Given the description of an element on the screen output the (x, y) to click on. 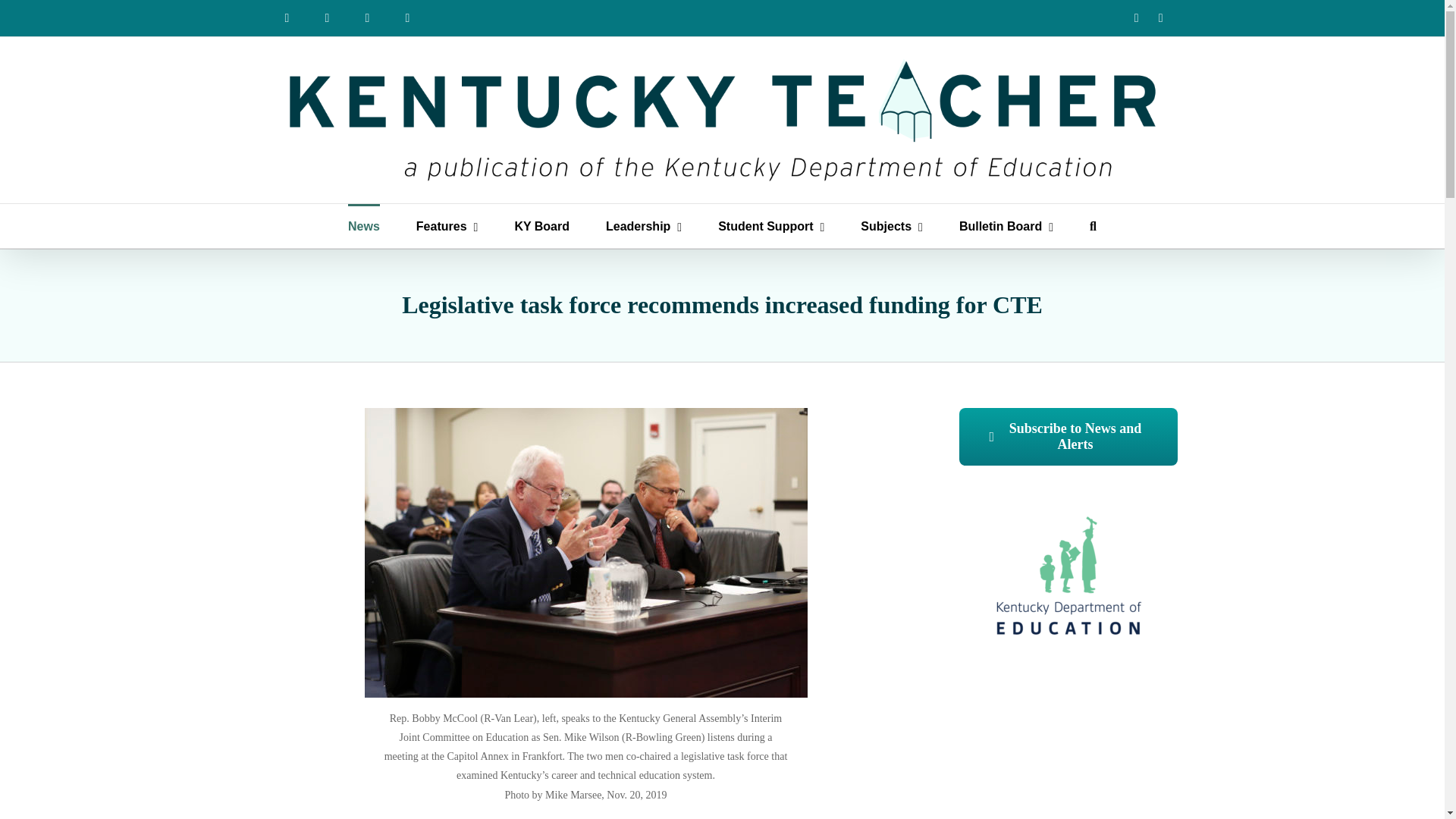
Subjects (891, 225)
KY Board (541, 225)
Contact (408, 18)
Leadership (643, 225)
Features (447, 225)
Bulletin Board (1005, 225)
Home (285, 18)
Staff (367, 18)
About (327, 18)
Student Support (770, 225)
